Given the description of an element on the screen output the (x, y) to click on. 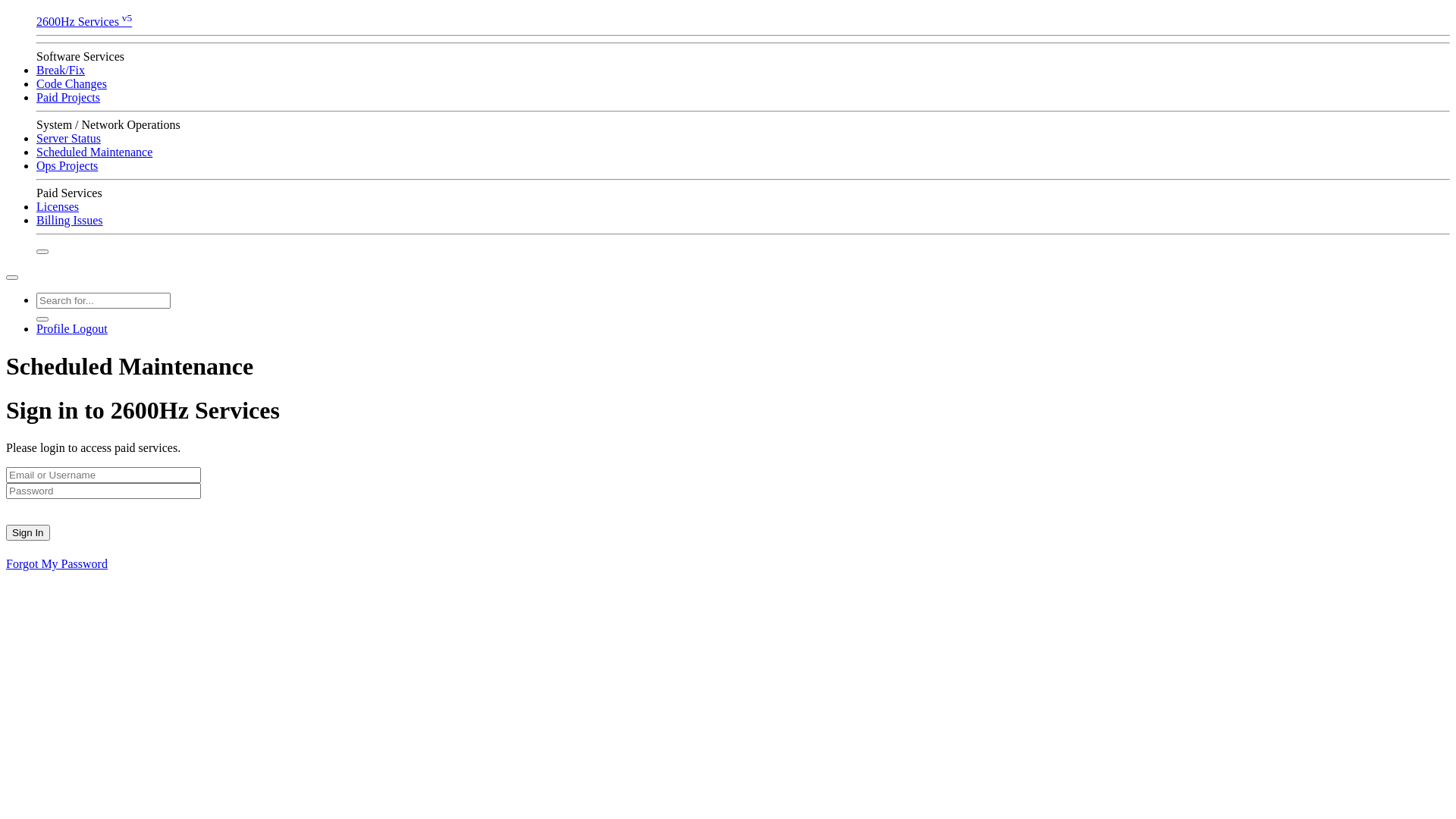
Sign In Element type: text (28, 532)
Logout Element type: text (89, 328)
Forgot My Password Element type: text (56, 562)
Profile Element type: text (54, 328)
Paid Projects Element type: text (68, 97)
Ops Projects Element type: text (66, 165)
Billing Issues Element type: text (69, 219)
Licenses Element type: text (57, 206)
Scheduled Maintenance Element type: text (94, 151)
Code Changes Element type: text (71, 83)
Break/Fix Element type: text (60, 69)
Server Status Element type: text (68, 137)
2600Hz Services v5 Element type: text (742, 20)
